Given the description of an element on the screen output the (x, y) to click on. 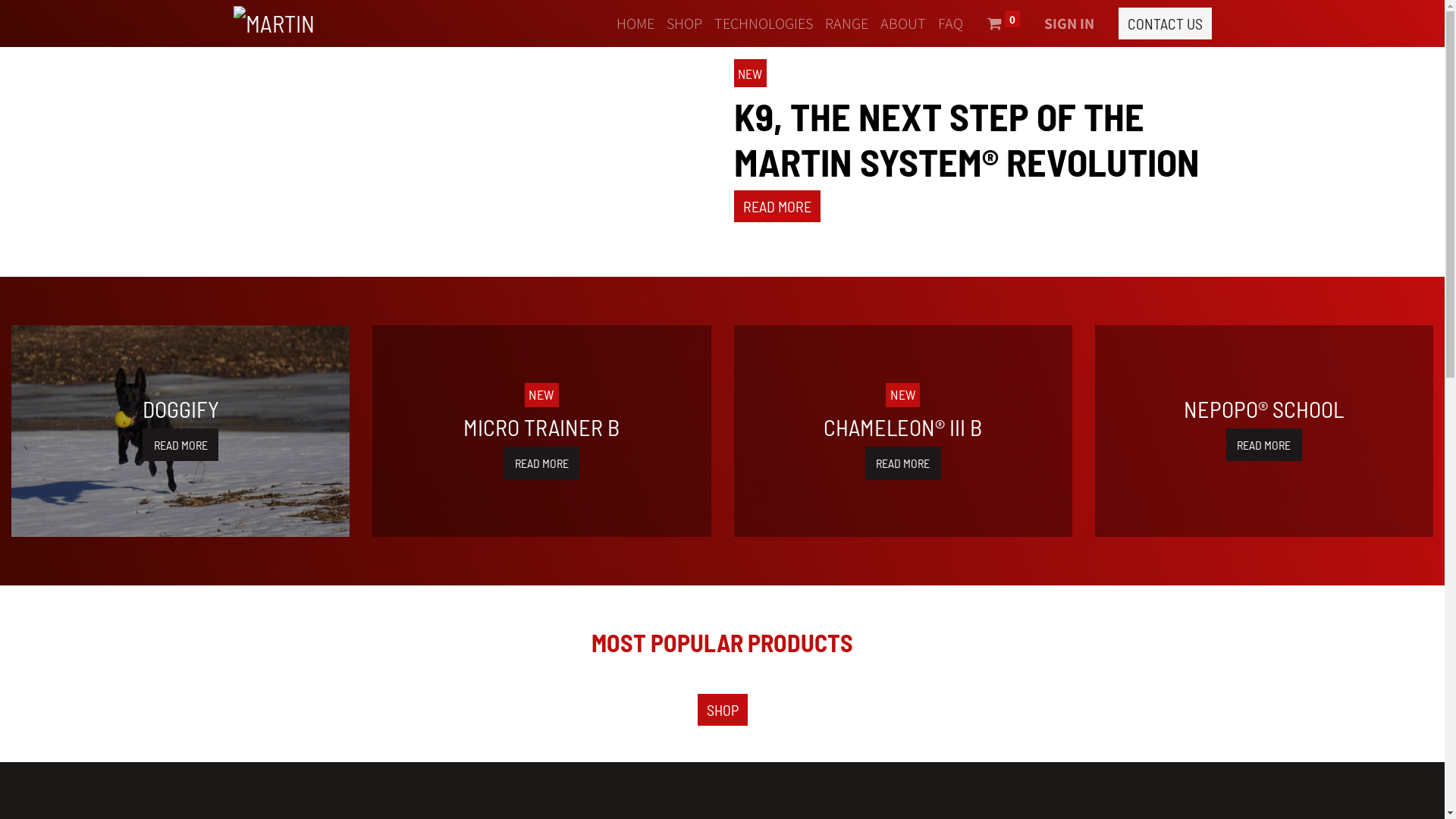
READ MORE Element type: text (541, 462)
MARTIN SYSTEM Element type: hover (274, 23)
READ MORE Element type: text (1264, 444)
SHOP Element type: text (683, 23)
0 Element type: text (1003, 23)
READ MORE Element type: text (777, 206)
SHOP Element type: text (722, 709)
FAQ Element type: text (949, 23)
SIGN IN Element type: text (1068, 23)
RANGE Element type: text (846, 23)
READ MORE Element type: text (180, 444)
ABOUT Element type: text (902, 23)
TECHNOLOGIES Element type: text (763, 23)
CONTACT US Element type: text (1164, 23)
READ MORE Element type: text (903, 462)
HOME Element type: text (634, 23)
